Given the description of an element on the screen output the (x, y) to click on. 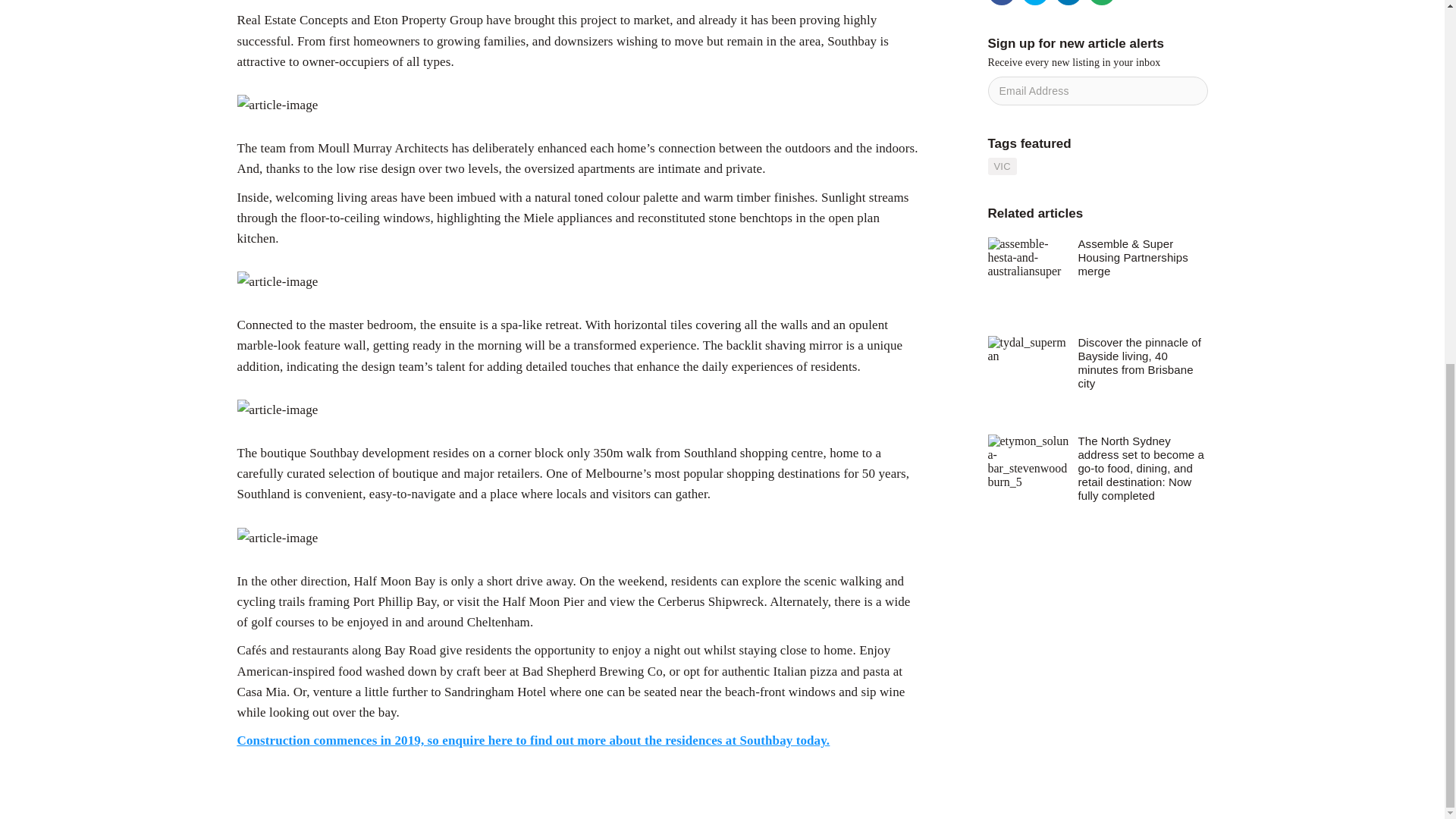
VIC (1001, 166)
